Given the description of an element on the screen output the (x, y) to click on. 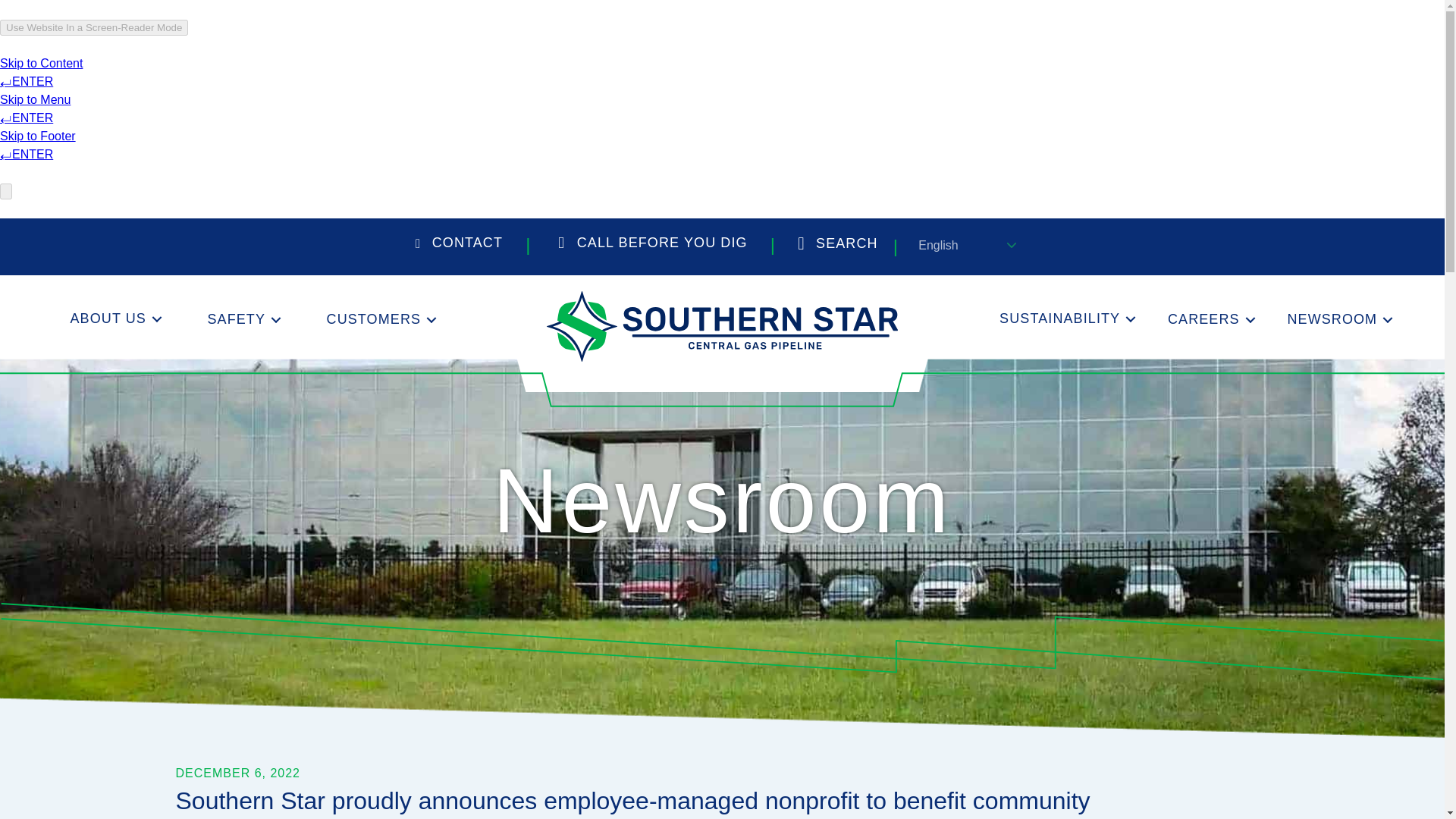
CAREERS (1208, 320)
SUSTAINABILITY (1064, 319)
ss-logo (722, 326)
SAFETY (241, 320)
NEWSROOM (1336, 320)
ABOUT US (113, 319)
SEARCH (837, 247)
CUSTOMERS (378, 320)
